Given the description of an element on the screen output the (x, y) to click on. 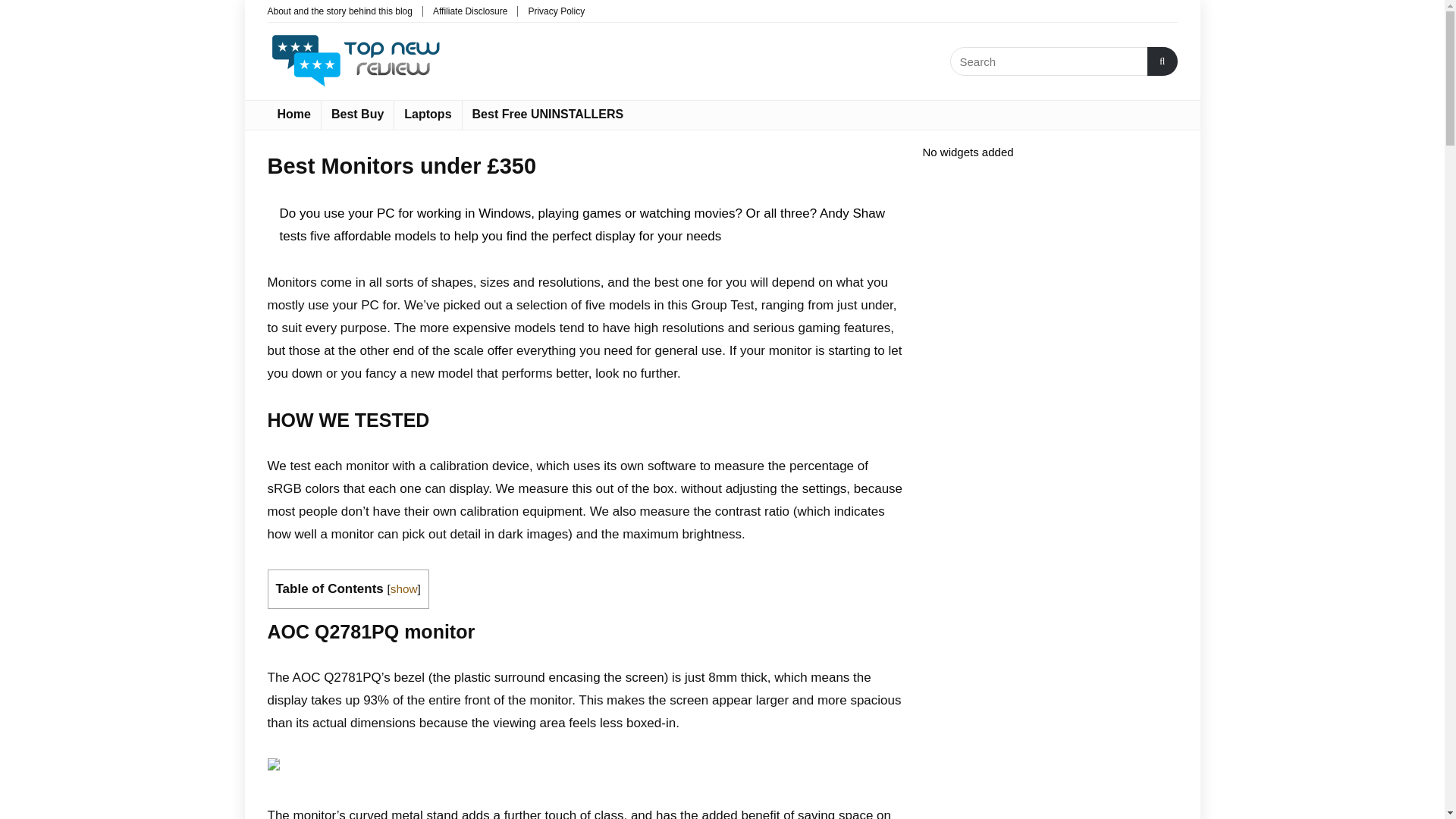
Best Buy (357, 114)
Privacy Policy (556, 10)
Best Free UNINSTALLERS (548, 114)
Laptops (427, 114)
Home (293, 114)
show (403, 588)
About and the story behind this blog (339, 10)
Affiliate Disclosure (469, 10)
